Given the description of an element on the screen output the (x, y) to click on. 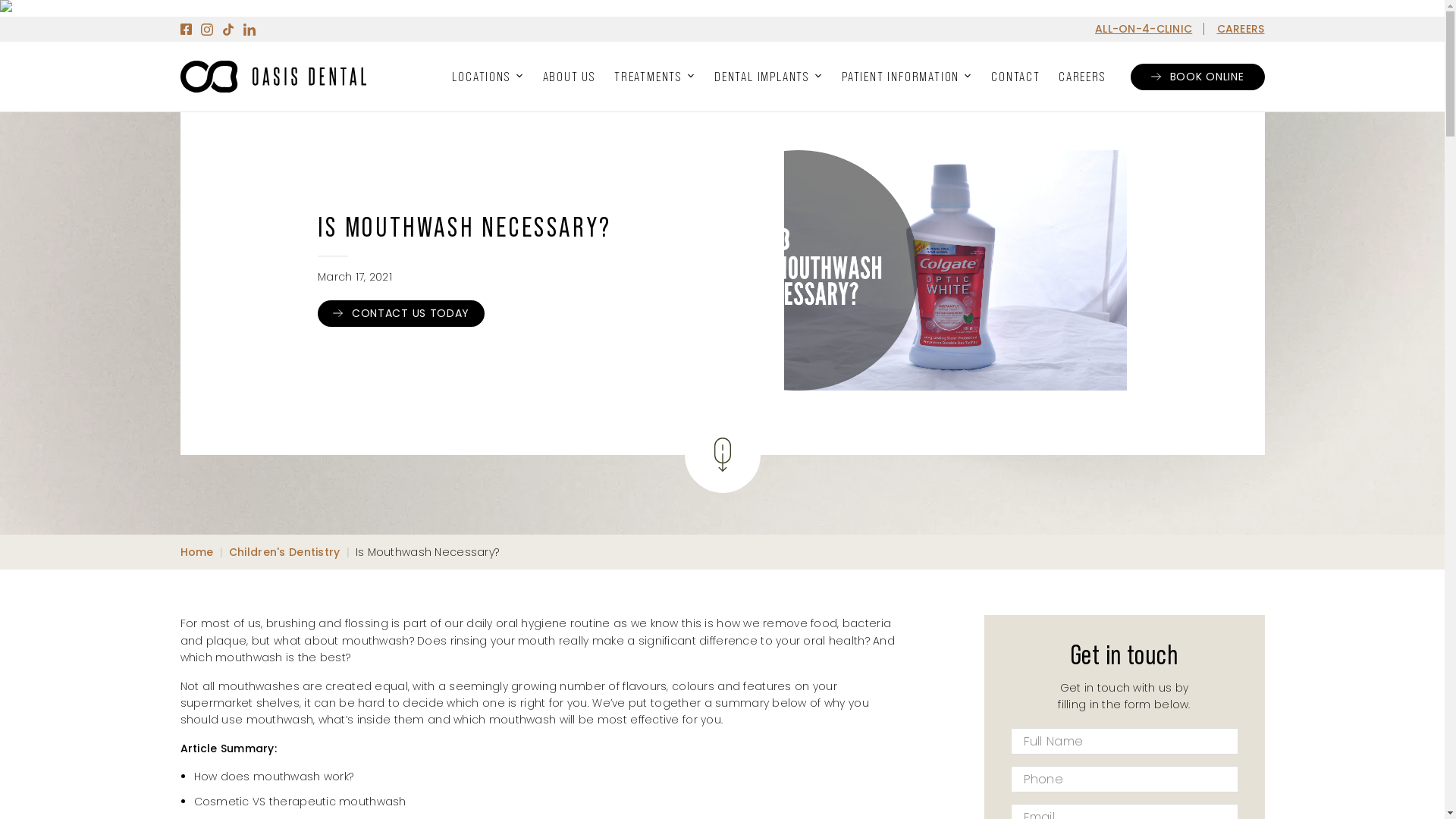
BOOK ONLINE Element type: text (1197, 76)
CONTACT US TODAY Element type: text (400, 313)
PATIENT INFORMATION Element type: text (907, 76)
CONTACT Element type: text (1015, 76)
CAREERS Element type: text (1240, 28)
Home Element type: text (196, 552)
ABOUT US Element type: text (569, 76)
LOCATIONS Element type: text (487, 76)
TREATMENTS Element type: text (655, 76)
DENTAL IMPLANTS Element type: text (768, 76)
ALL-ON-4-CLINIC Element type: text (1143, 28)
Children's Dentistry Element type: text (284, 552)
CAREERS Element type: text (1082, 76)
